Given the description of an element on the screen output the (x, y) to click on. 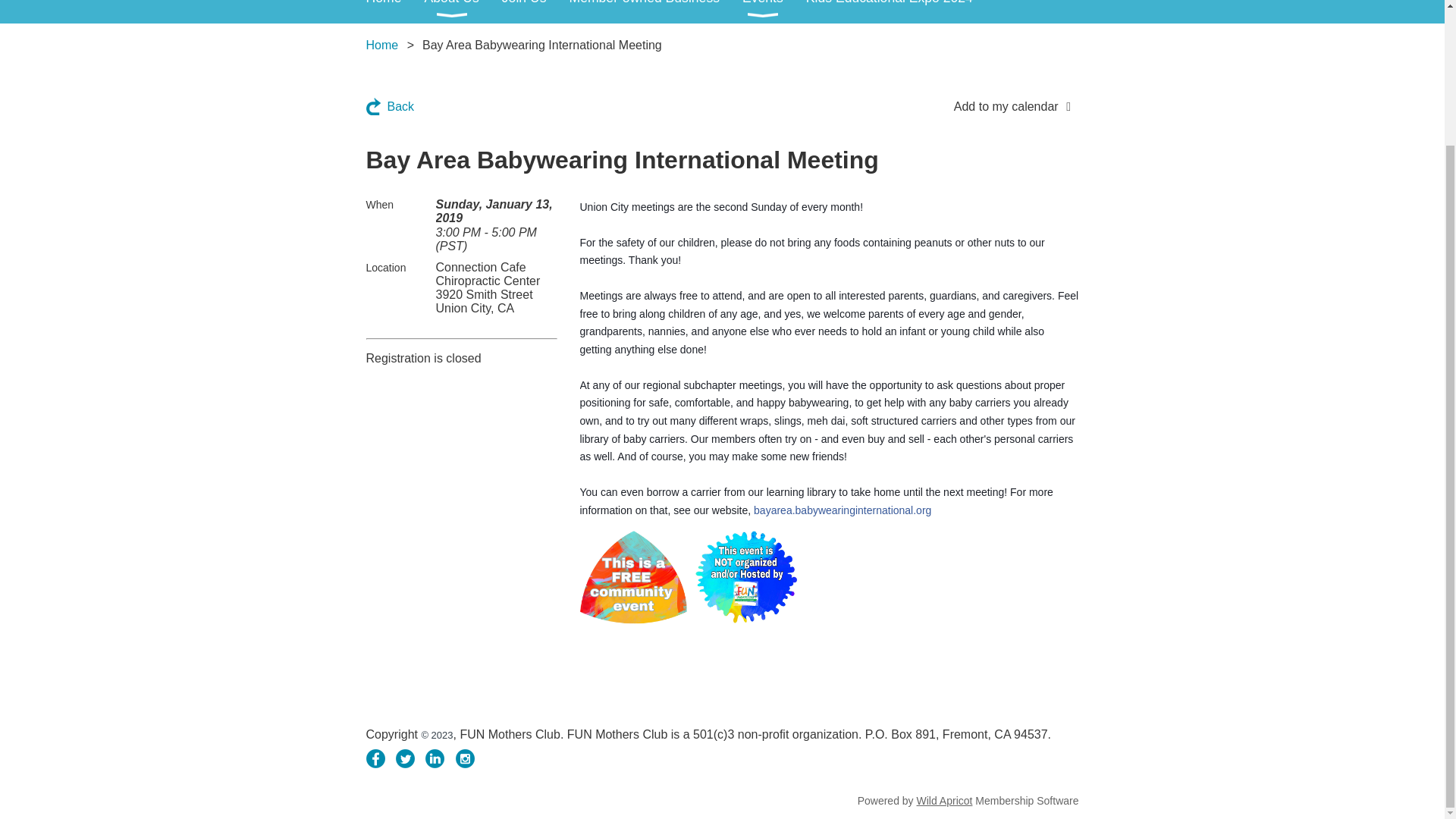
Member-owned Business (655, 11)
Home (381, 44)
About Us (461, 11)
Join Us (535, 11)
Home (394, 11)
Member-owned Business (655, 11)
bayarea.babywearinginternational.org (842, 509)
Events (774, 11)
Back (389, 106)
About Us (461, 11)
